Given the description of an element on the screen output the (x, y) to click on. 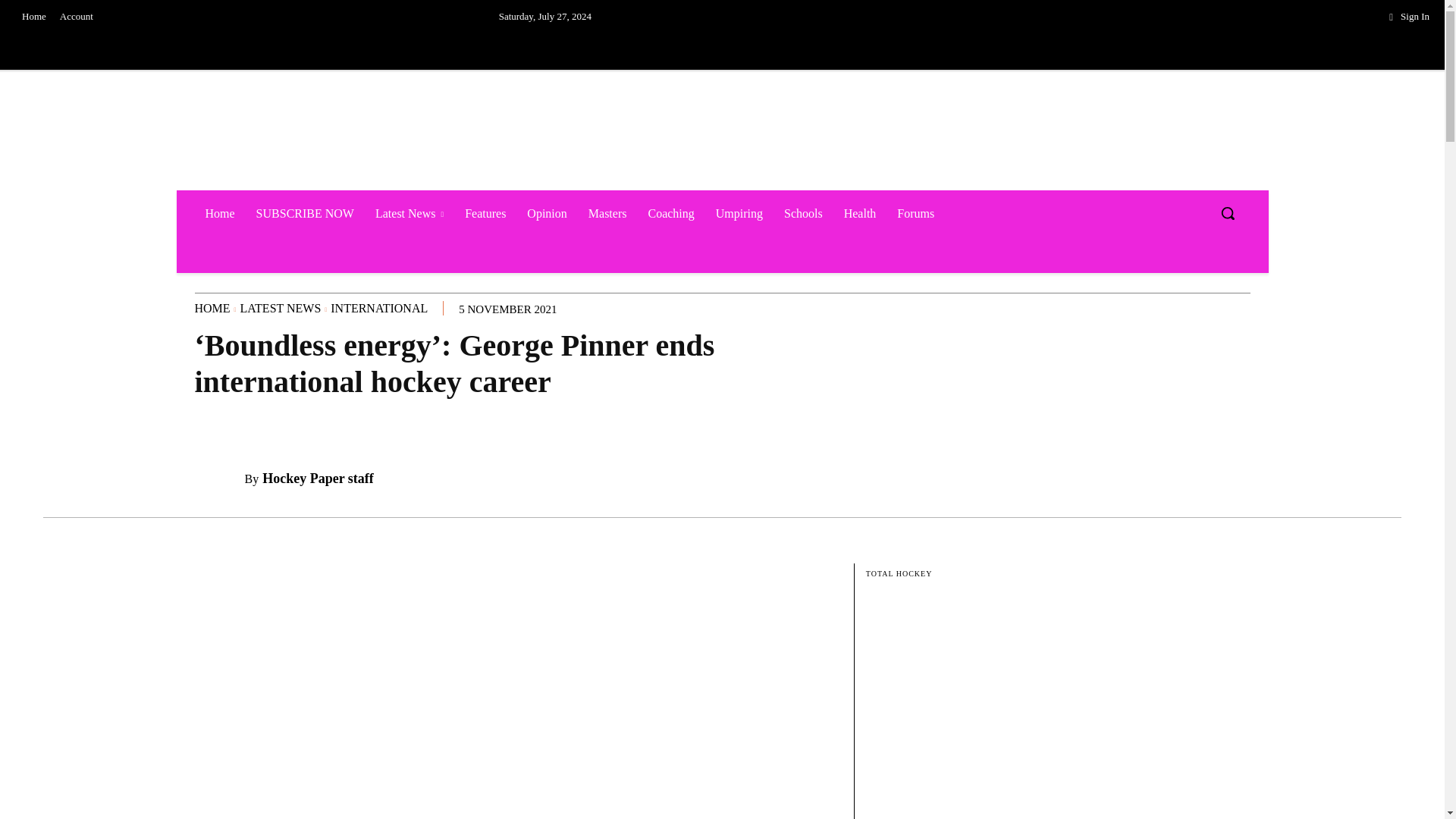
Home (33, 16)
Account (76, 16)
